Given the description of an element on the screen output the (x, y) to click on. 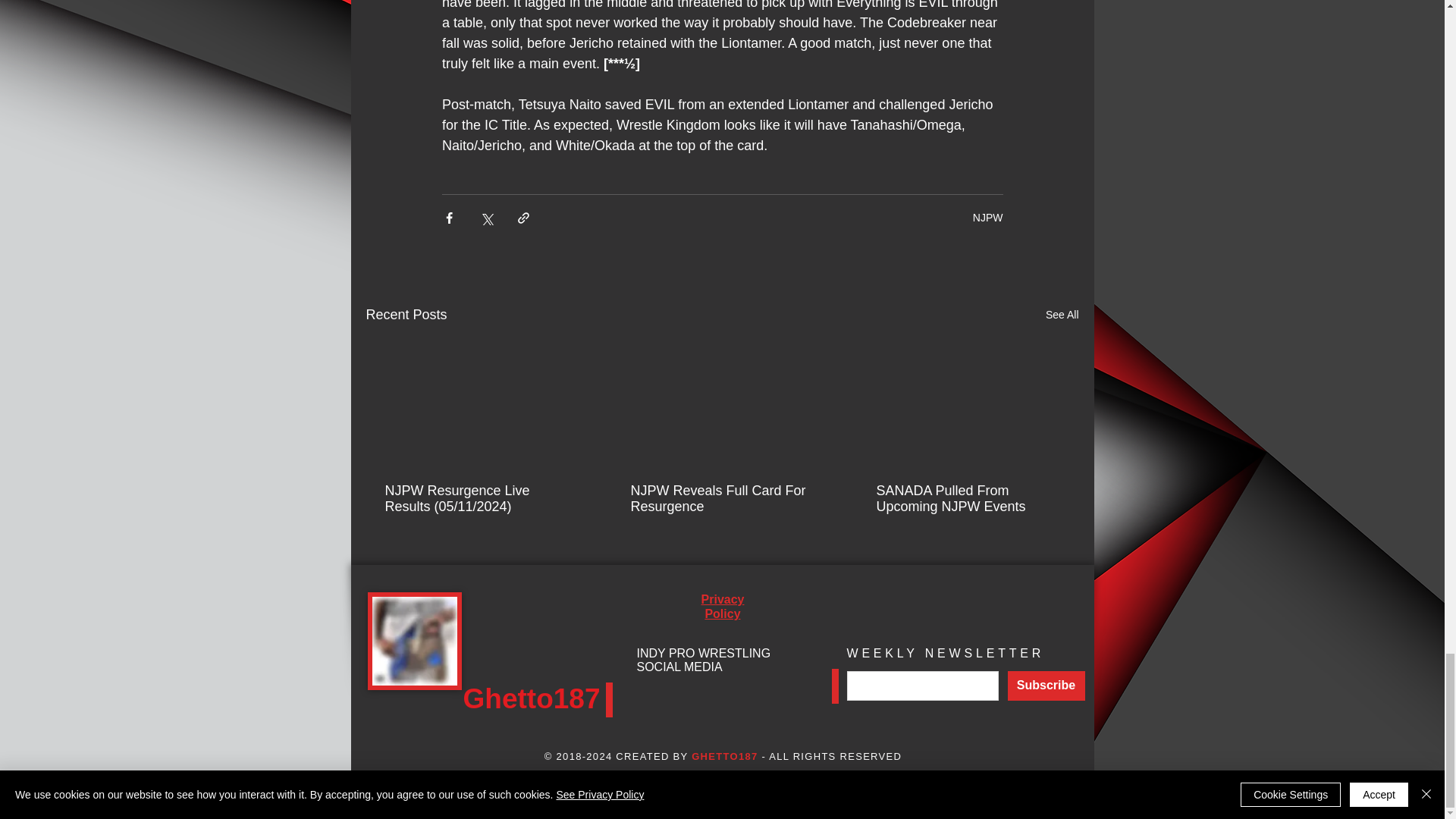
SANADA Pulled From Upcoming NJPW Events (967, 499)
NJPW Reveals Full Card For Resurgence (721, 499)
Privacy Policy (722, 605)
See All (1061, 314)
Subscribe (1045, 685)
GHETTO187 (724, 756)
NJPW (987, 217)
Ghetto187 (531, 698)
